Given the description of an element on the screen output the (x, y) to click on. 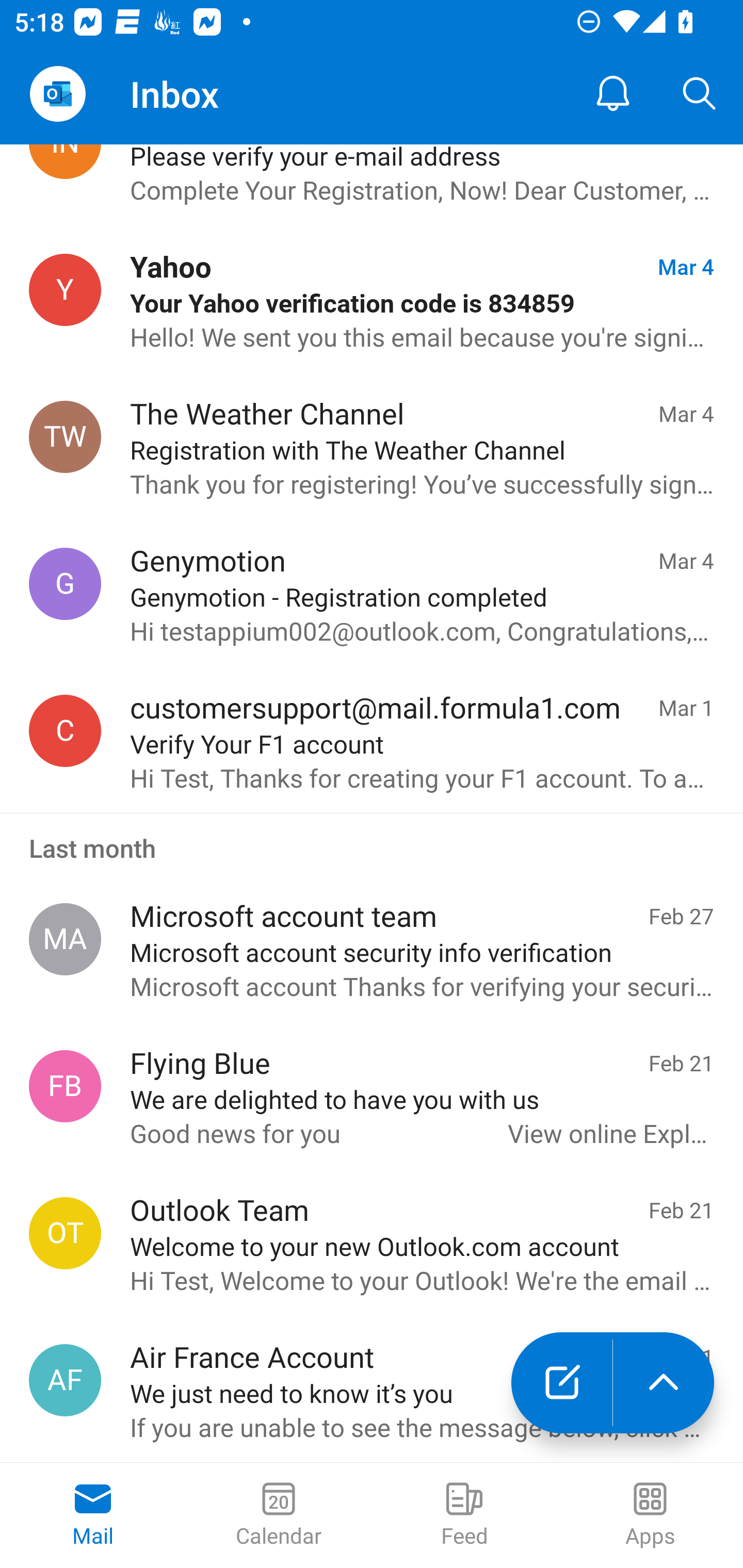
Notification Center (612, 93)
Search, ,  (699, 93)
Open Navigation Drawer (57, 94)
Yahoo, no-reply@cc.yahoo-inc.com (64, 290)
The Weather Channel, noreply@weather.com (64, 437)
Genymotion, genymotion-activation@genymobile.com (64, 583)
Flying Blue, do_not_reply@info-flyingblue.com (64, 1086)
Outlook Team, no-reply@microsoft.com (64, 1233)
New mail (561, 1382)
launch the extended action menu (663, 1382)
Air France Account, account@infos-airfrance.com (64, 1379)
Calendar (278, 1515)
Feed (464, 1515)
Apps (650, 1515)
